Given the description of an element on the screen output the (x, y) to click on. 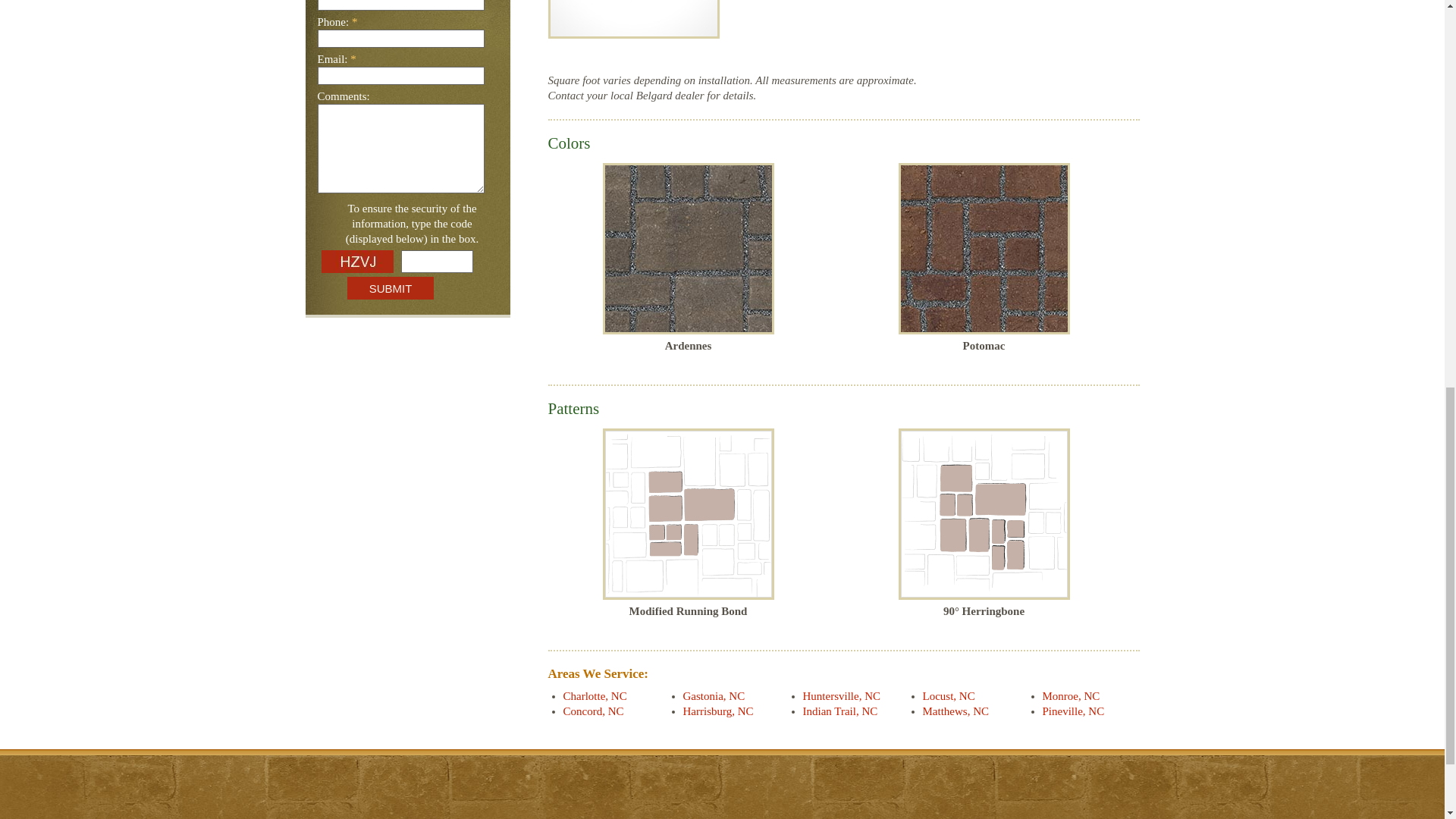
Gastonia, NC (713, 695)
 Submit  (390, 287)
Indian Trail, NC (839, 711)
Charlotte, NC (594, 695)
Matthews, NC (954, 711)
 Submit  (390, 287)
Monroe, NC (1070, 695)
Huntersville, NC (841, 695)
Concord, NC (592, 711)
Harrisburg, NC (717, 711)
